Given the description of an element on the screen output the (x, y) to click on. 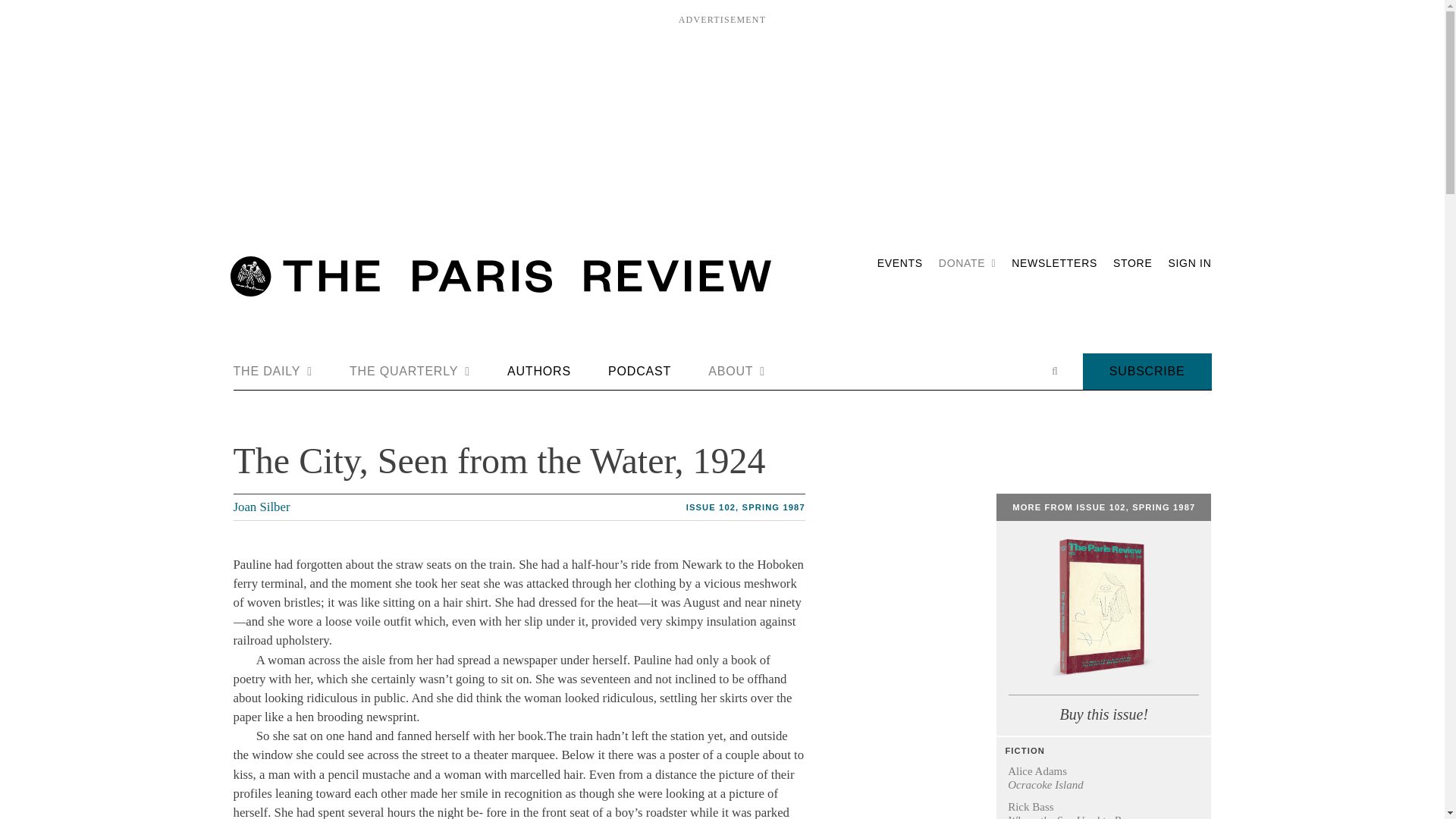
Open search (1054, 371)
THE QUARTERLY (409, 371)
THE DAILY (272, 371)
